Given the description of an element on the screen output the (x, y) to click on. 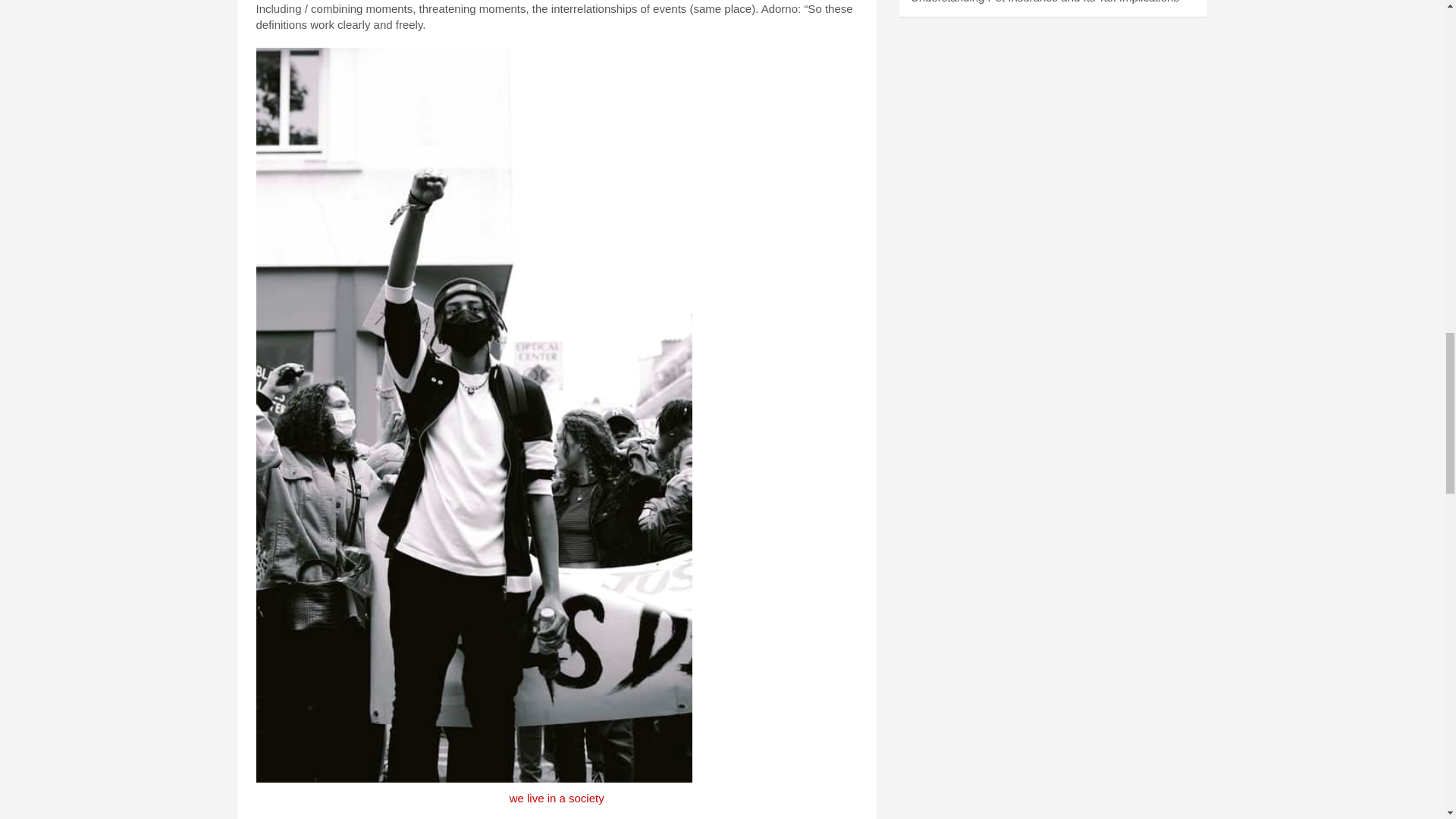
we live in a society (556, 797)
